Given the description of an element on the screen output the (x, y) to click on. 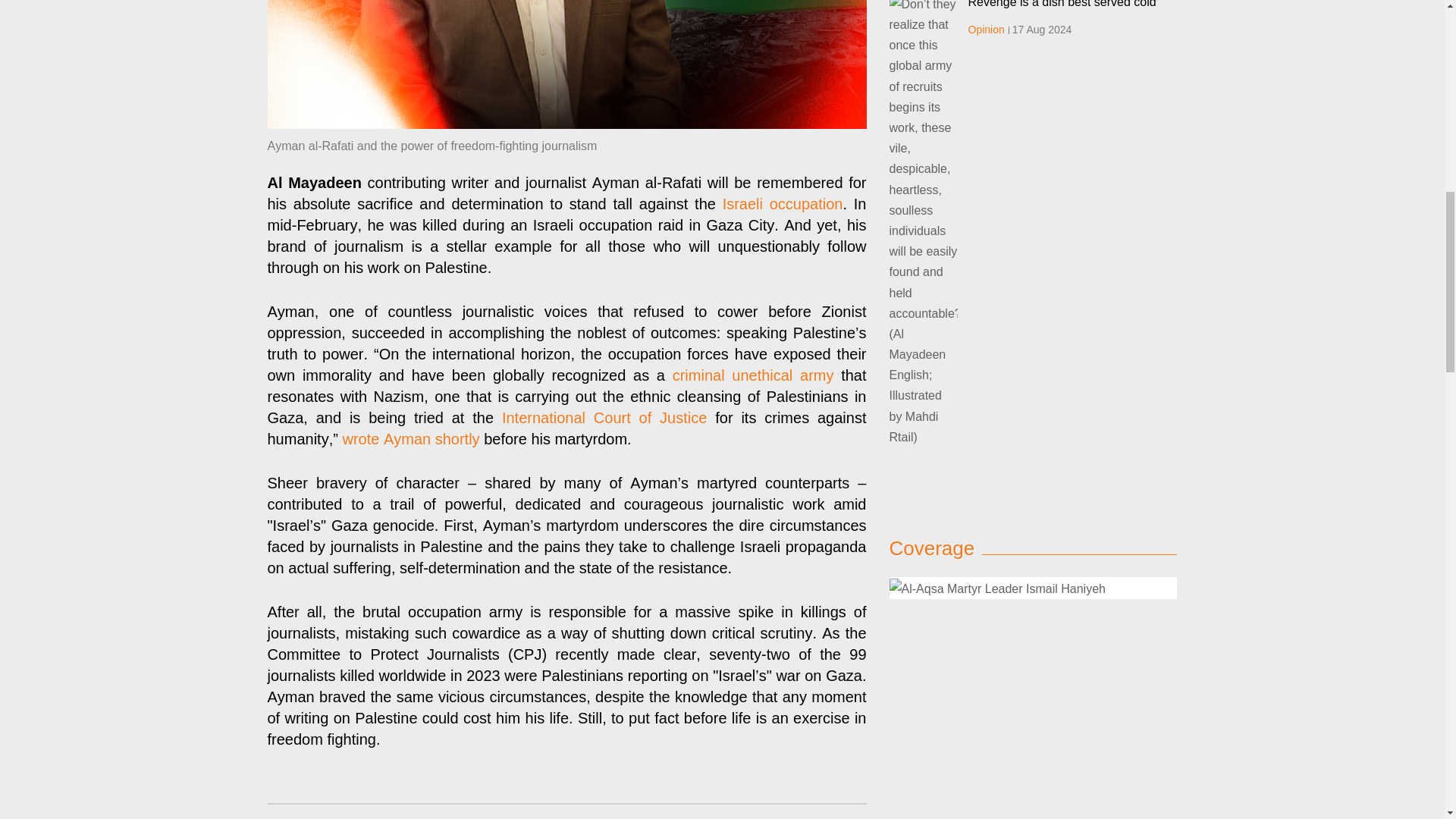
Al-Aqsa Martyr Leader Ismail Haniyeh (1032, 587)
Opinion (986, 29)
Al-Aqsa Martyr Leader Ismail Haniyeh (996, 588)
